Given the description of an element on the screen output the (x, y) to click on. 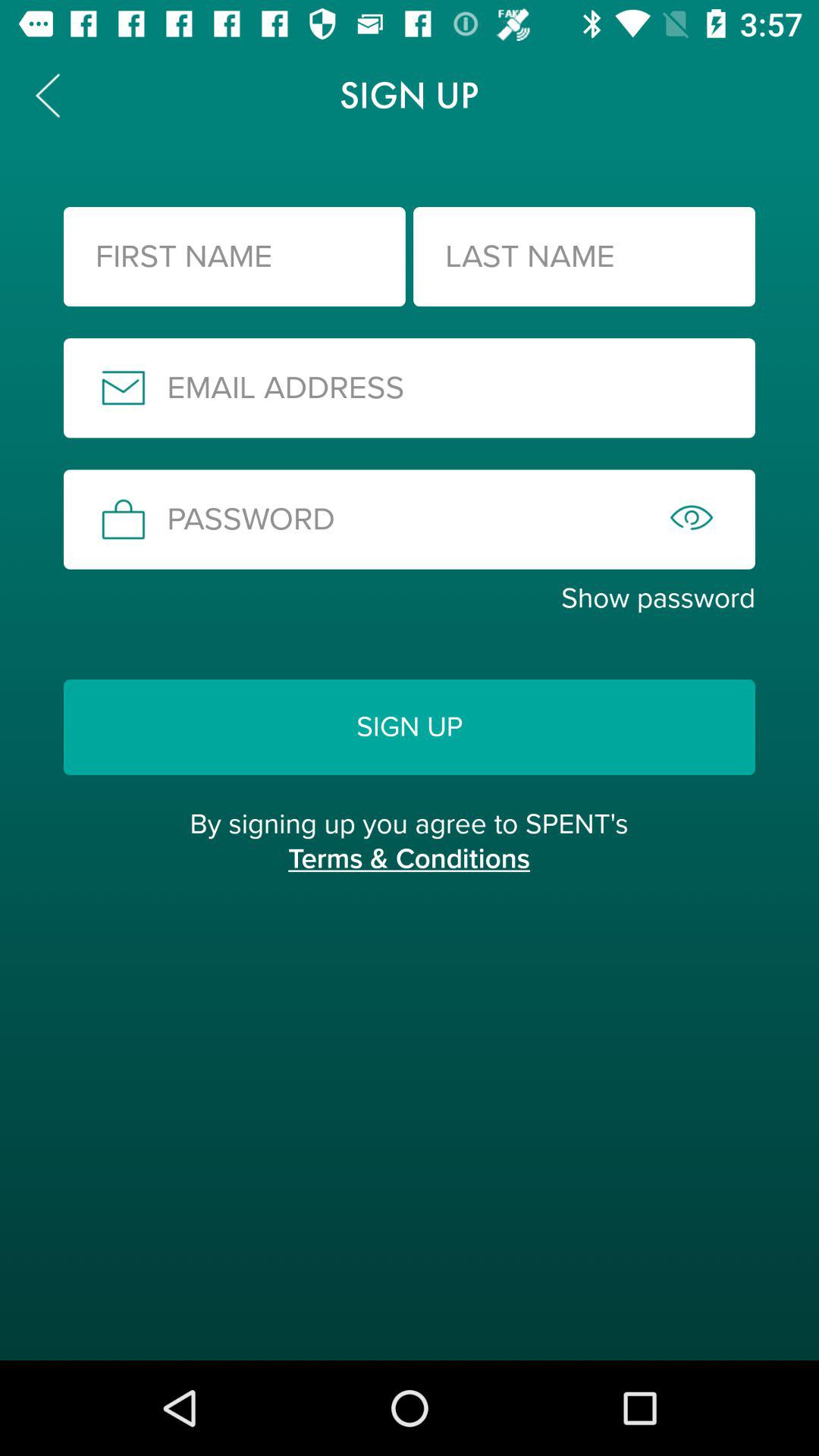
go back (47, 95)
